Given the description of an element on the screen output the (x, y) to click on. 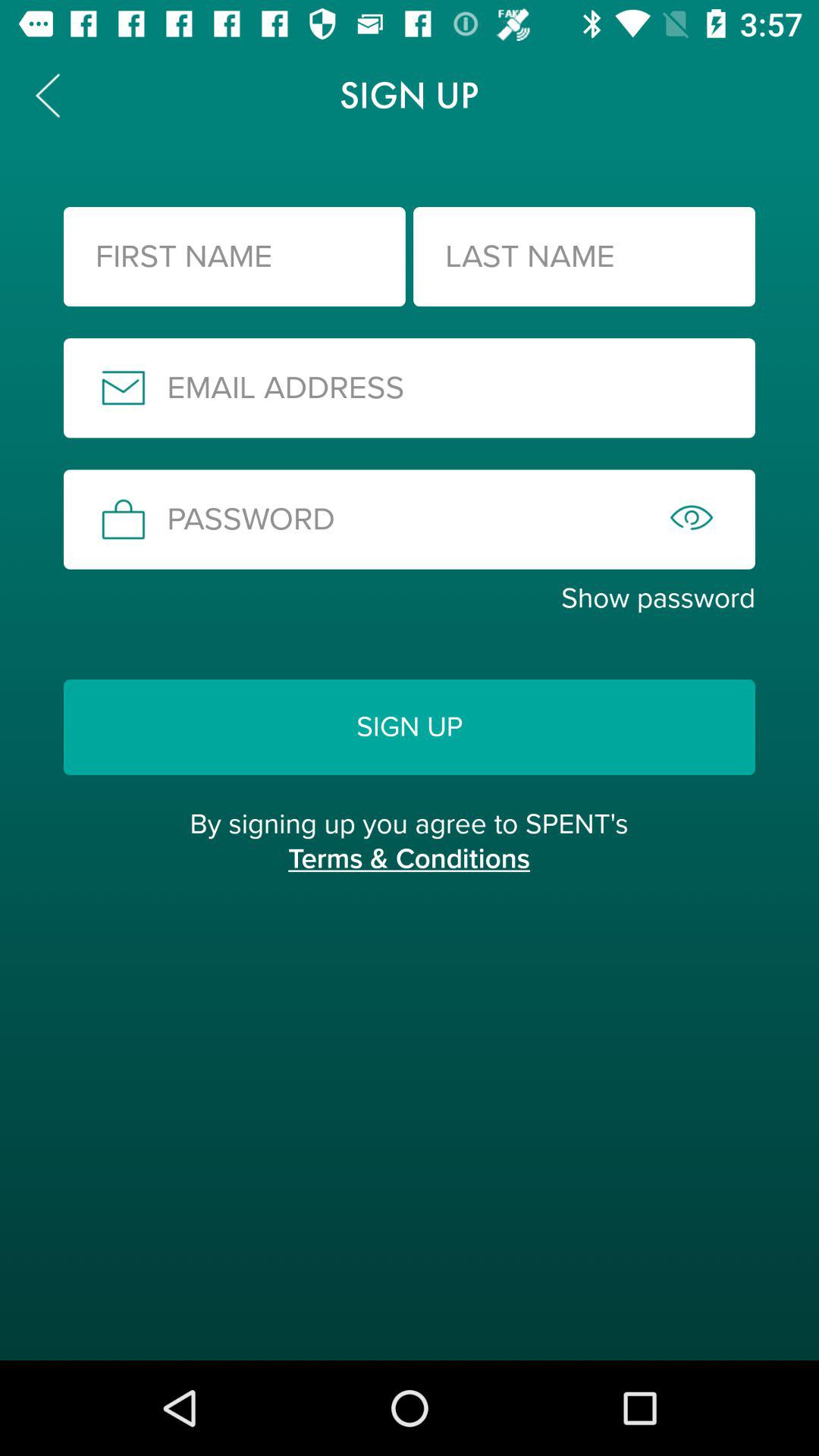
go back (47, 95)
